Given the description of an element on the screen output the (x, y) to click on. 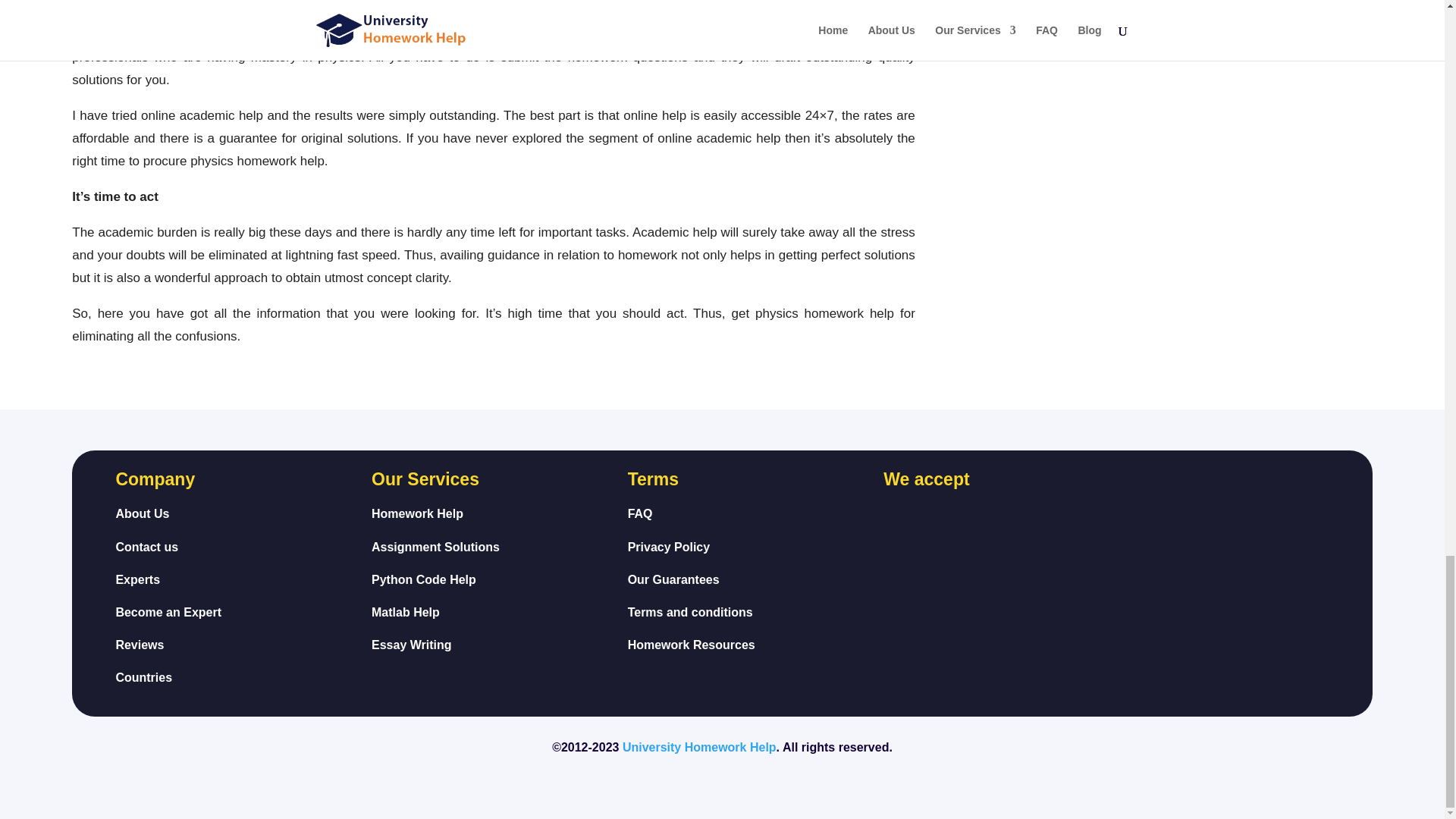
dmca-badge-w150-5x1-09 (1196, 557)
Reviews (139, 644)
Countries (691, 644)
Our Guarantees (673, 579)
About Us (141, 513)
University Homework Help (699, 747)
Matlab Help (405, 612)
Countries (137, 579)
Terms and conditions (689, 612)
Contact us (146, 546)
